Given the description of an element on the screen output the (x, y) to click on. 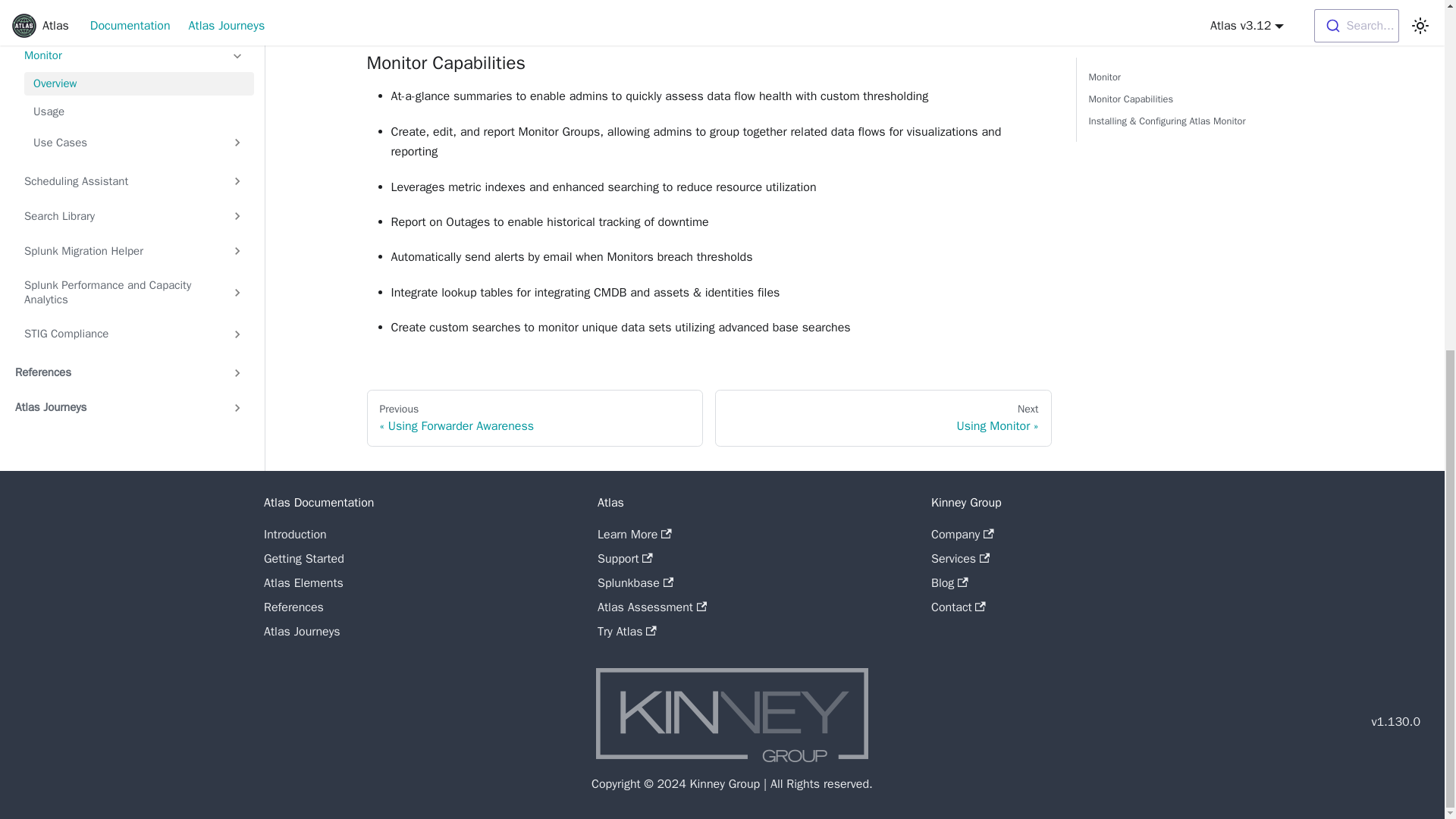
Splunk Performance and Capacity Analytics (133, 34)
References (129, 114)
Atlas Journeys (129, 149)
Splunk Migration Helper (133, 2)
STIG Compliance (133, 75)
